Given the description of an element on the screen output the (x, y) to click on. 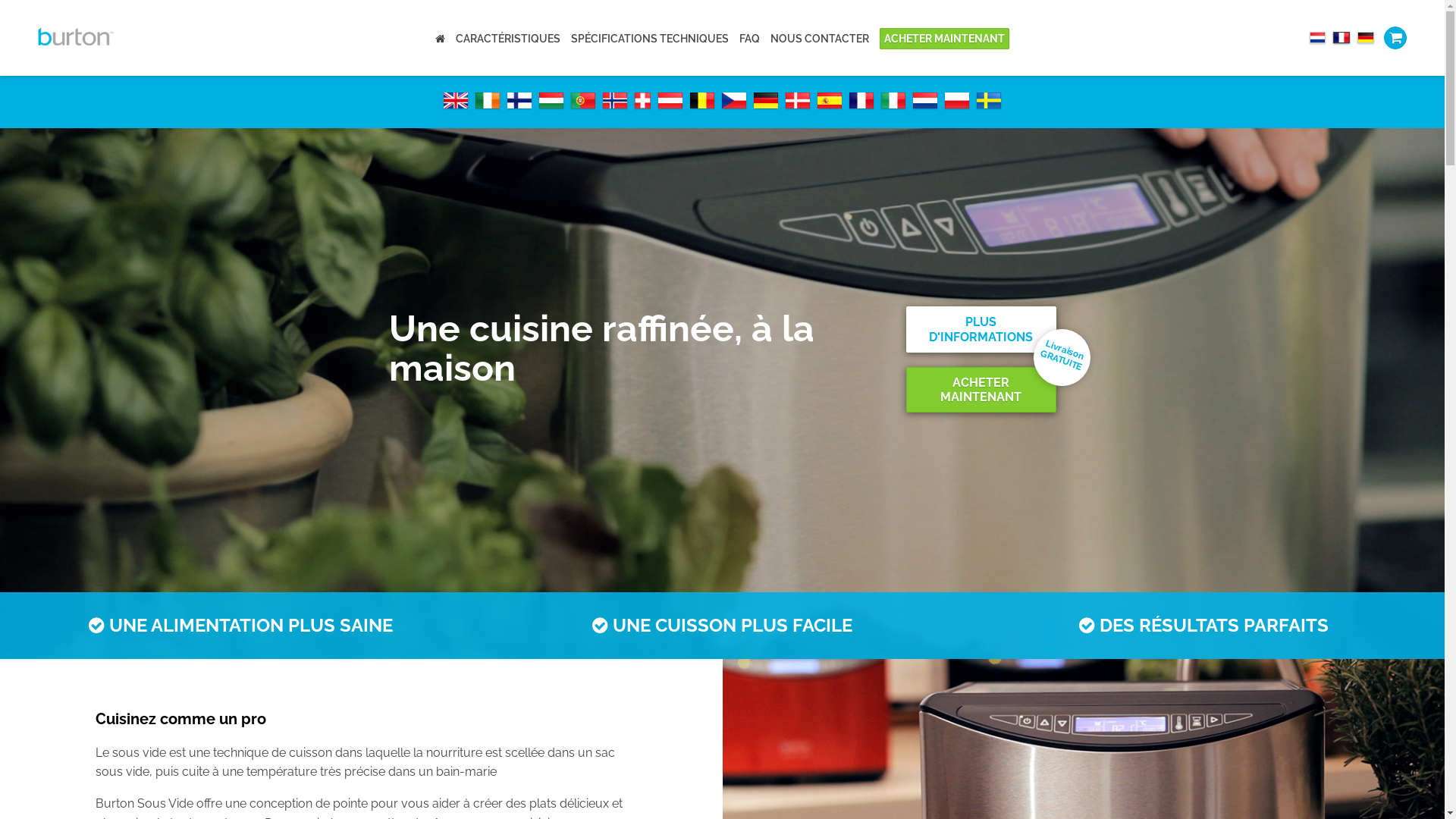
ACHETER MAINTENANT Element type: text (944, 38)
FAQ Element type: text (749, 38)
Livraison
GRATUITE Element type: text (1053, 349)
NOUS CONTACTER Element type: text (819, 38)
PLUS D'INFORMATIONS Element type: text (980, 328)
ACHETER MAINTENANT Element type: text (980, 389)
